Given the description of an element on the screen output the (x, y) to click on. 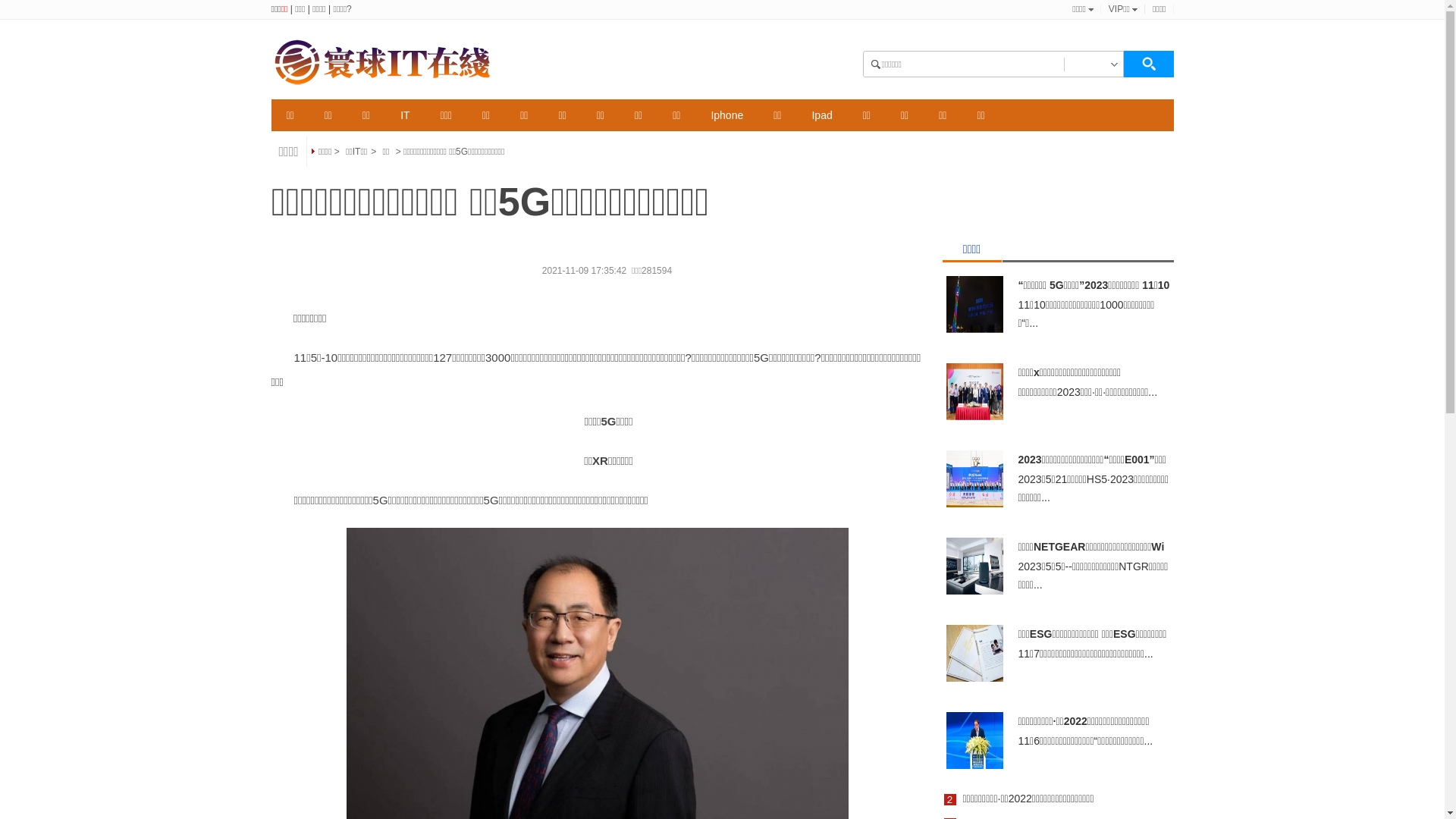
Iphone Element type: text (726, 115)
IT Element type: text (404, 115)
Ipad Element type: text (821, 115)
